Given the description of an element on the screen output the (x, y) to click on. 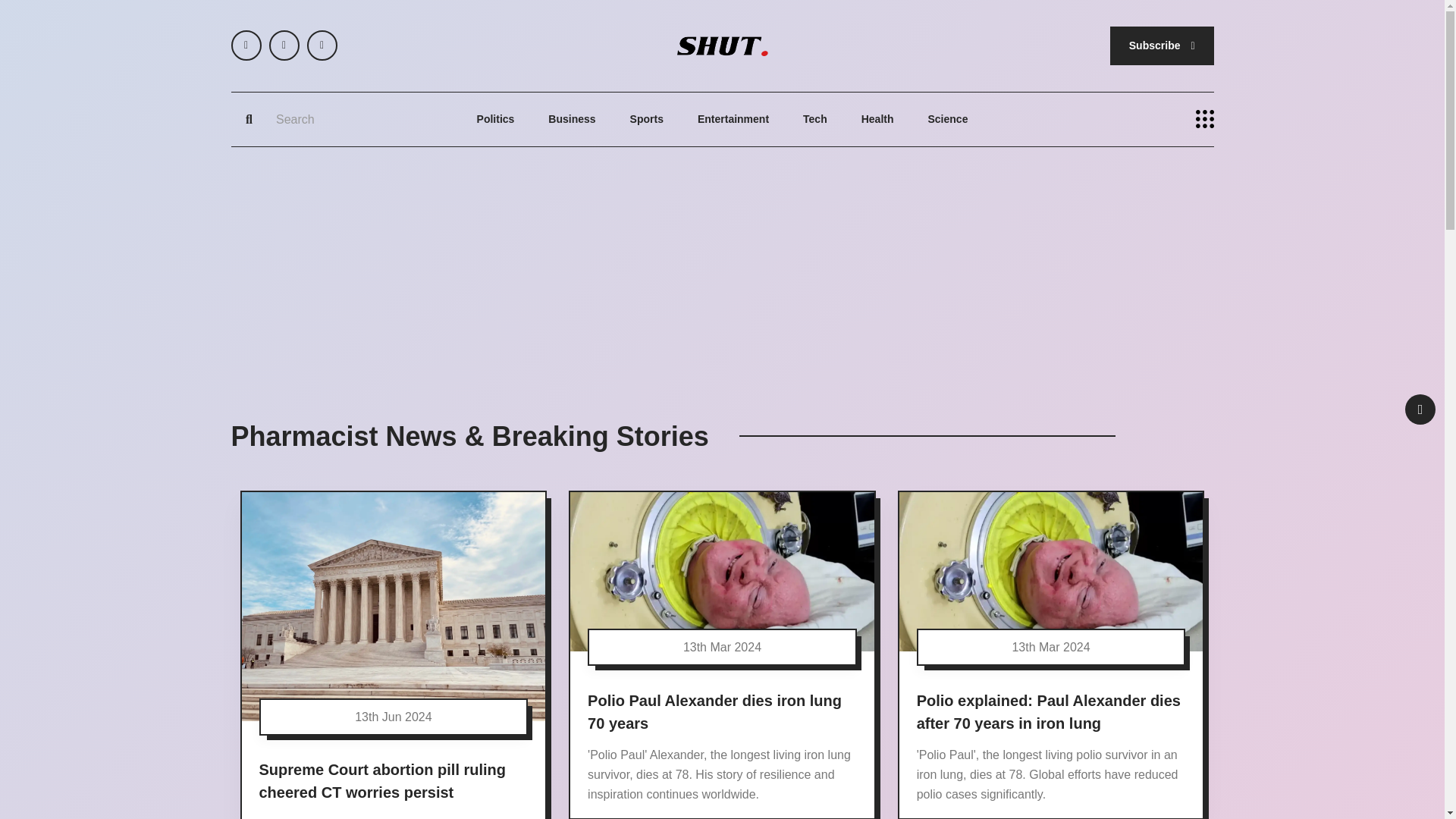
Polio Paul Alexander dies iron lung 70 years (714, 711)
Subscribe (1161, 45)
Entertainment (732, 119)
